Given the description of an element on the screen output the (x, y) to click on. 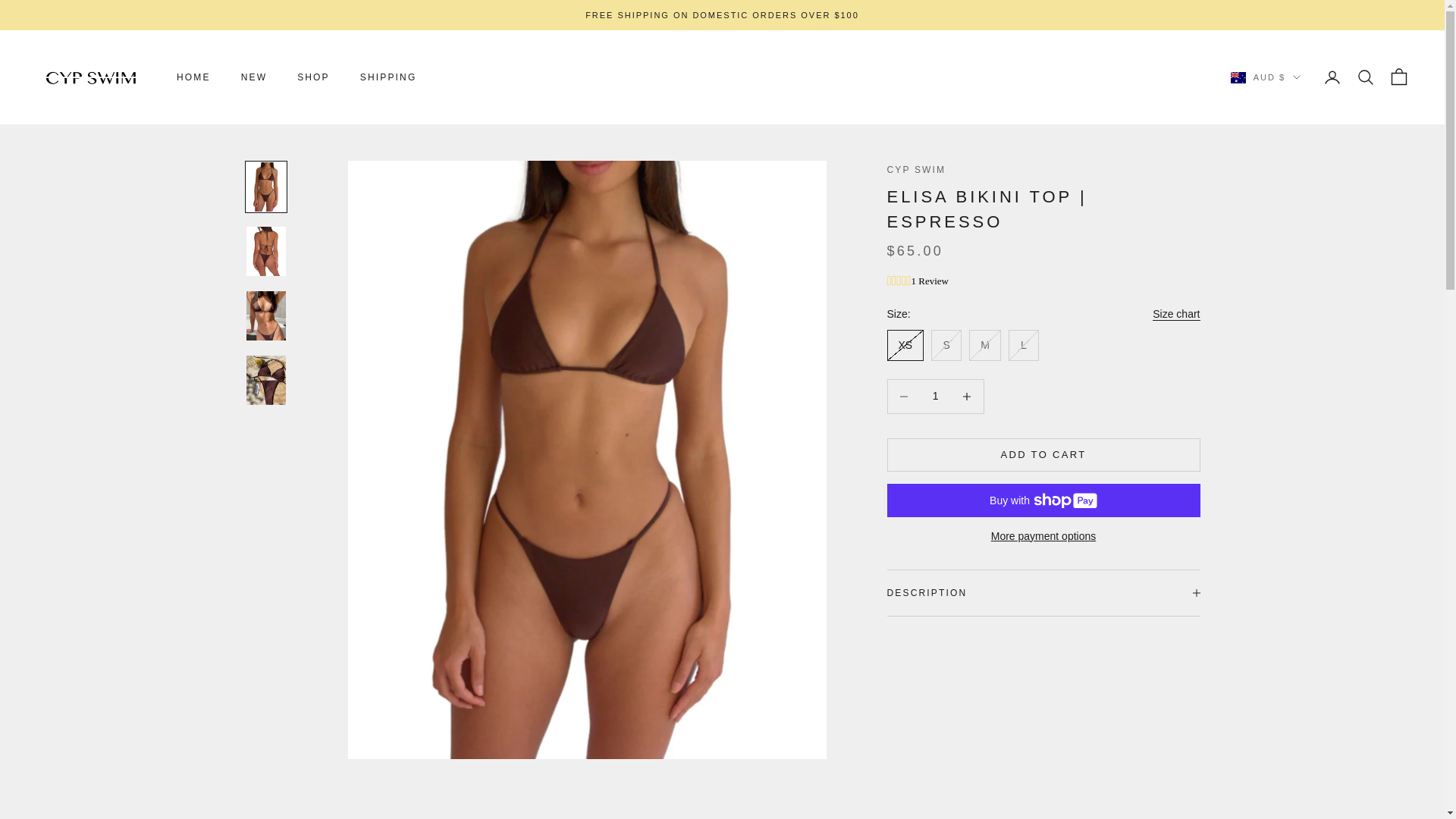
HOME (193, 77)
1 (935, 396)
NEW (253, 77)
CYP SWIM (91, 77)
SHIPPING (387, 77)
